Given the description of an element on the screen output the (x, y) to click on. 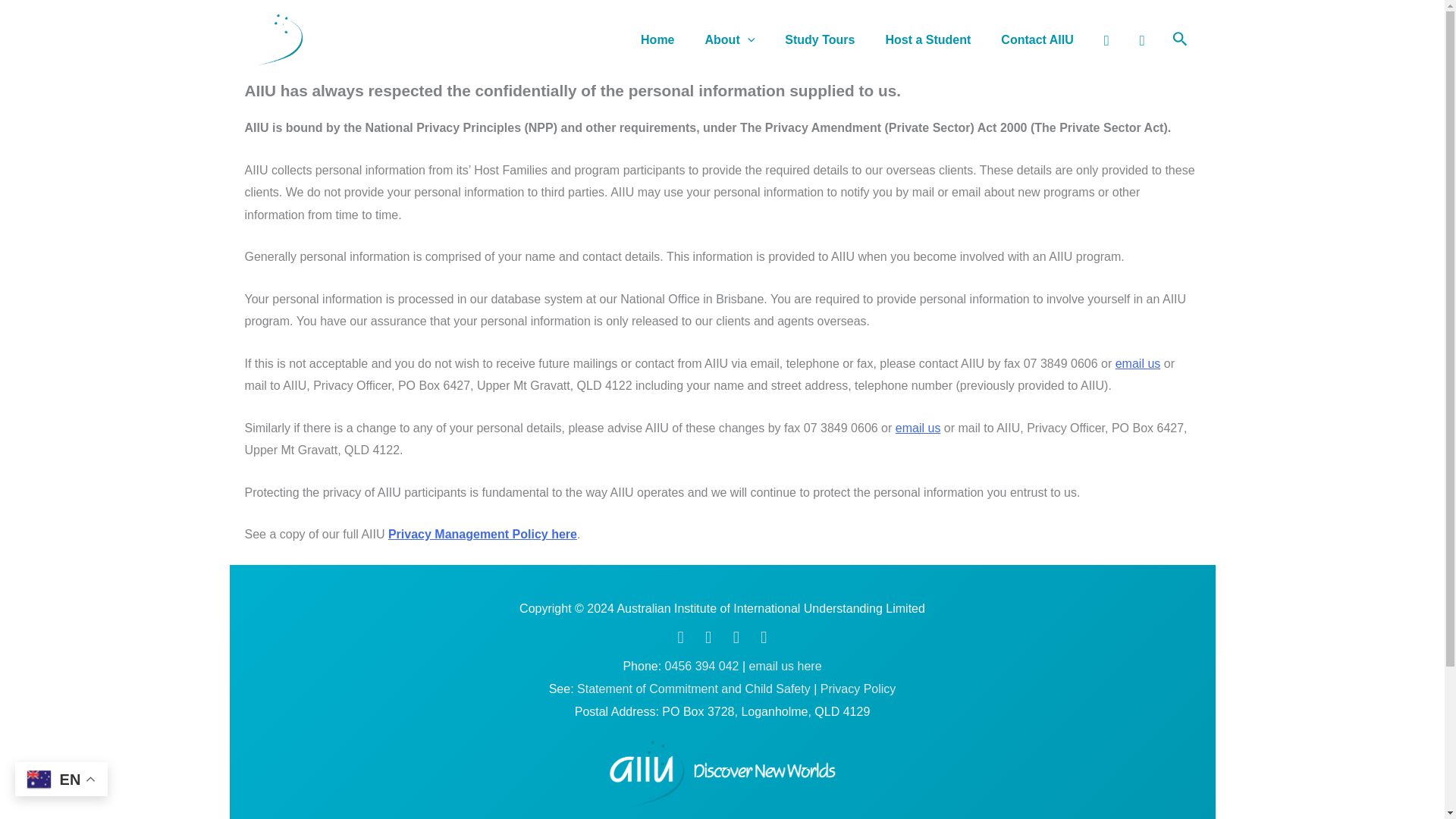
Privacy Policy (858, 688)
0456 394 042 (702, 666)
email us (1137, 363)
Study Tours (819, 39)
Host a Student (927, 39)
email us here (785, 666)
About (730, 39)
Statement of Commitment and Child Safety (693, 688)
Contact AIIU (1036, 39)
Privacy Management Policy here (482, 533)
email us (917, 427)
AIIU (721, 773)
Home (657, 39)
